Given the description of an element on the screen output the (x, y) to click on. 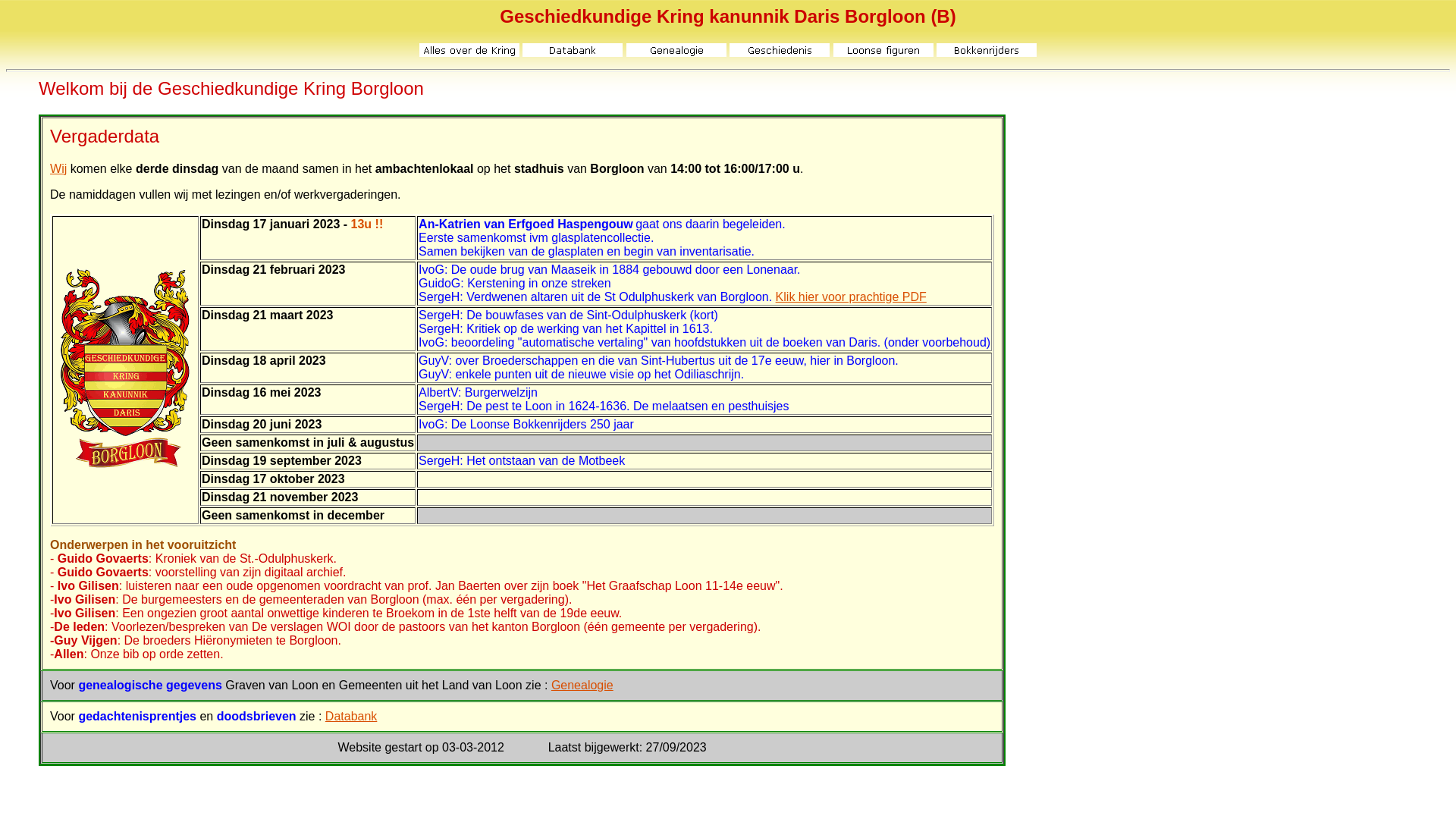
Genealogie Element type: text (582, 684)
Databank Element type: text (351, 715)
Wij Element type: text (58, 168)
Klik hier voor prachtige PDF Element type: text (850, 296)
